Given the description of an element on the screen output the (x, y) to click on. 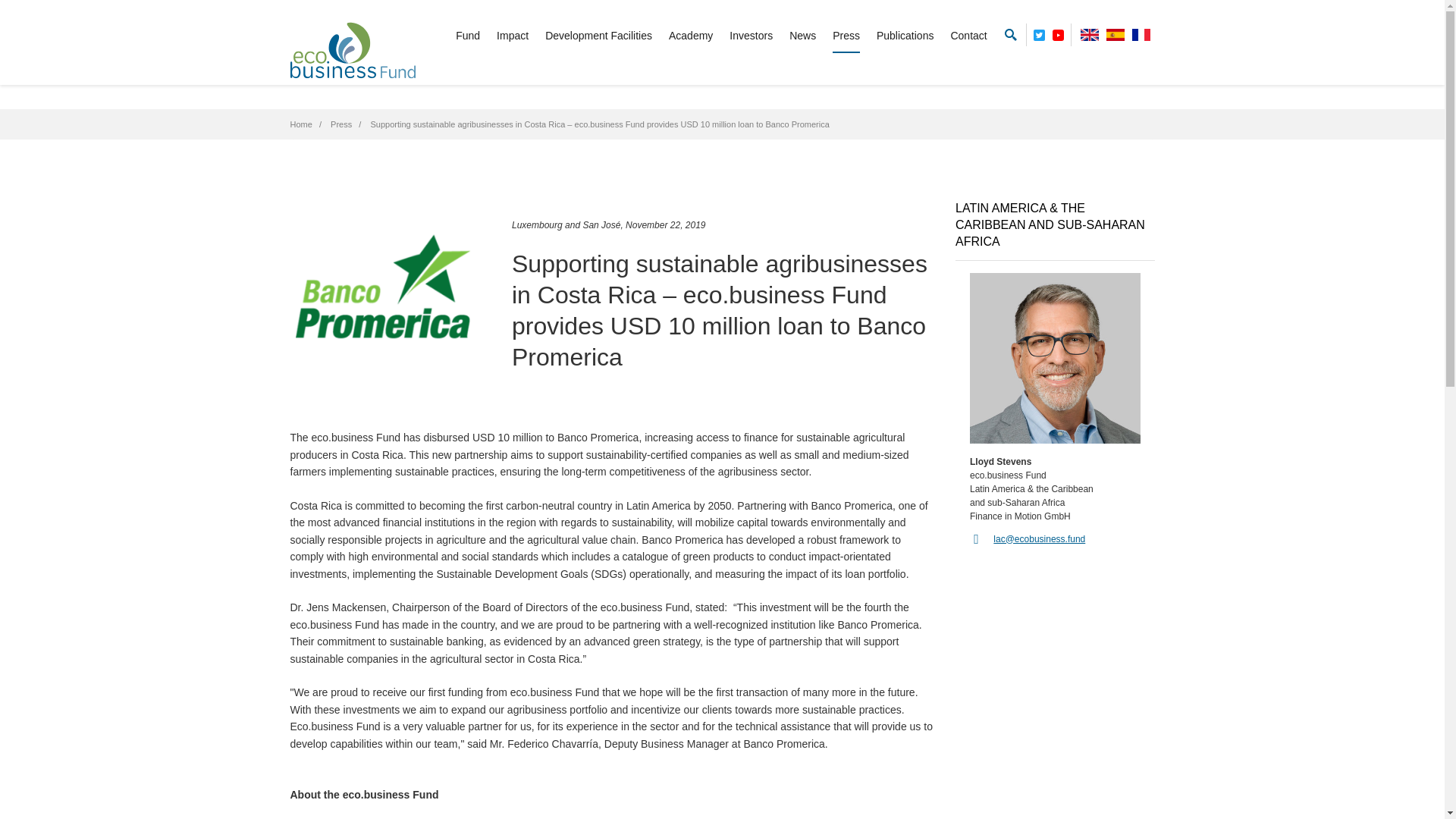
Publications (905, 36)
Investors (751, 36)
Contact (968, 36)
Home (300, 123)
Home (300, 123)
French (1141, 34)
Development Facilities (598, 36)
YouTube (1059, 31)
eco.business Fund (351, 50)
Lloyd Stevens (1054, 357)
